Given the description of an element on the screen output the (x, y) to click on. 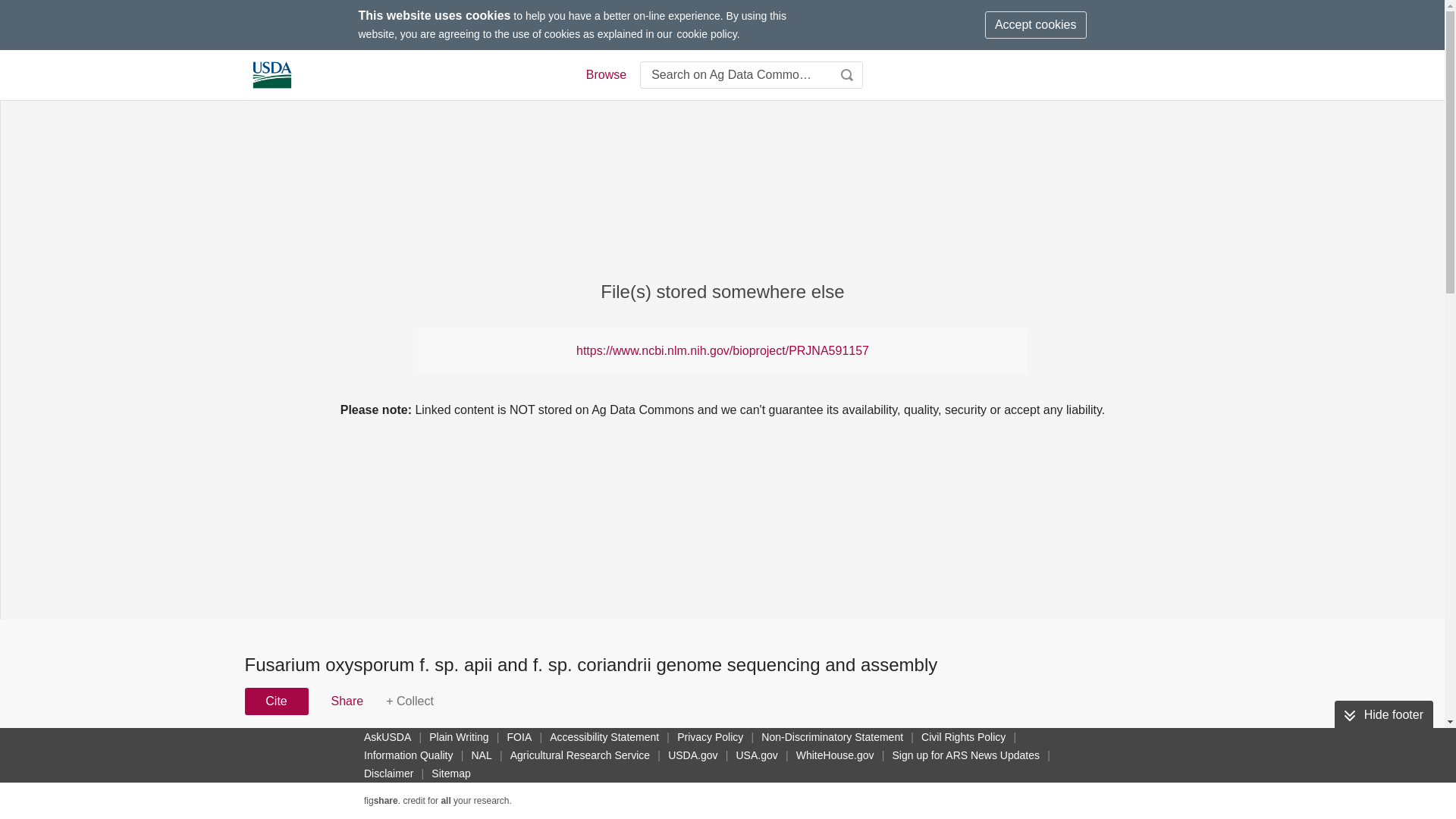
Information Quality (408, 755)
Privacy Policy (710, 737)
Agricultural Research Service (579, 755)
USA.gov (755, 755)
Non-Discriminatory Statement (832, 737)
cookie policy (706, 33)
Accept cookies (1035, 24)
NAL (481, 755)
Browse (605, 75)
you need to log in first (409, 700)
